Given the description of an element on the screen output the (x, y) to click on. 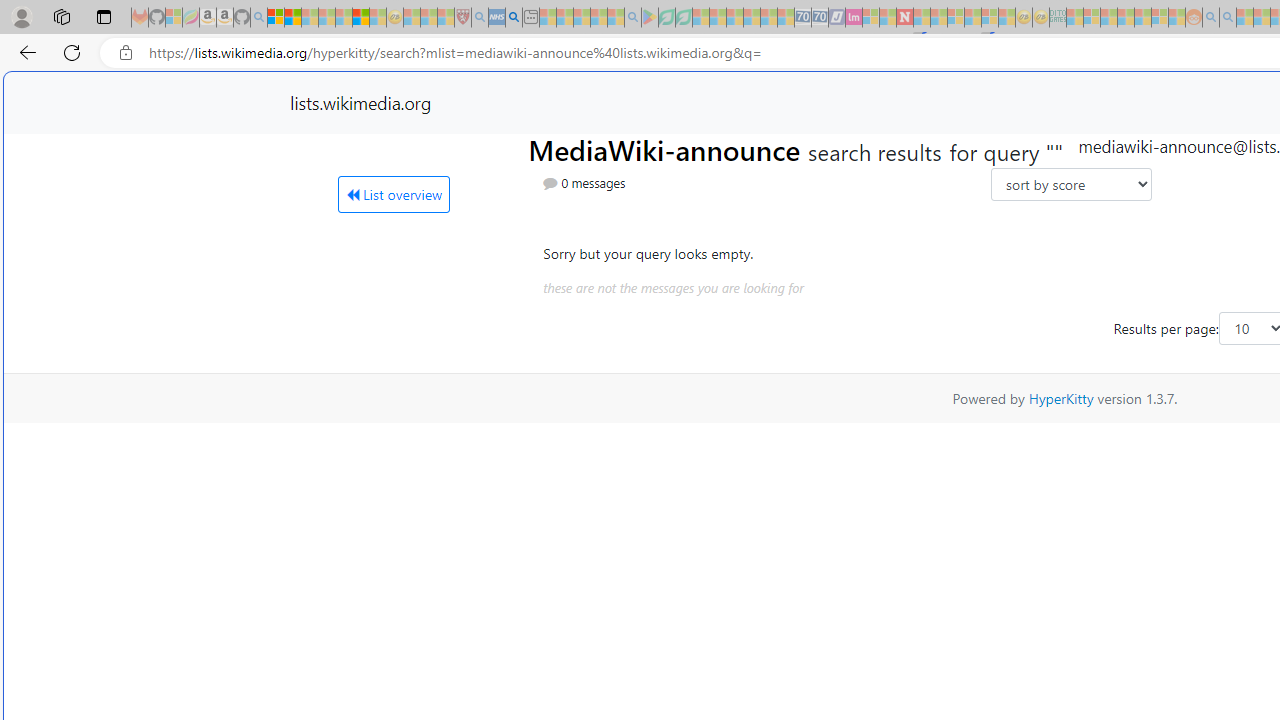
lists.wikimedia.org (360, 102)
Local - MSN - Sleeping (445, 17)
Expert Portfolios - Sleeping (1125, 17)
Terms of Use Agreement - Sleeping (666, 17)
